Given the description of an element on the screen output the (x, y) to click on. 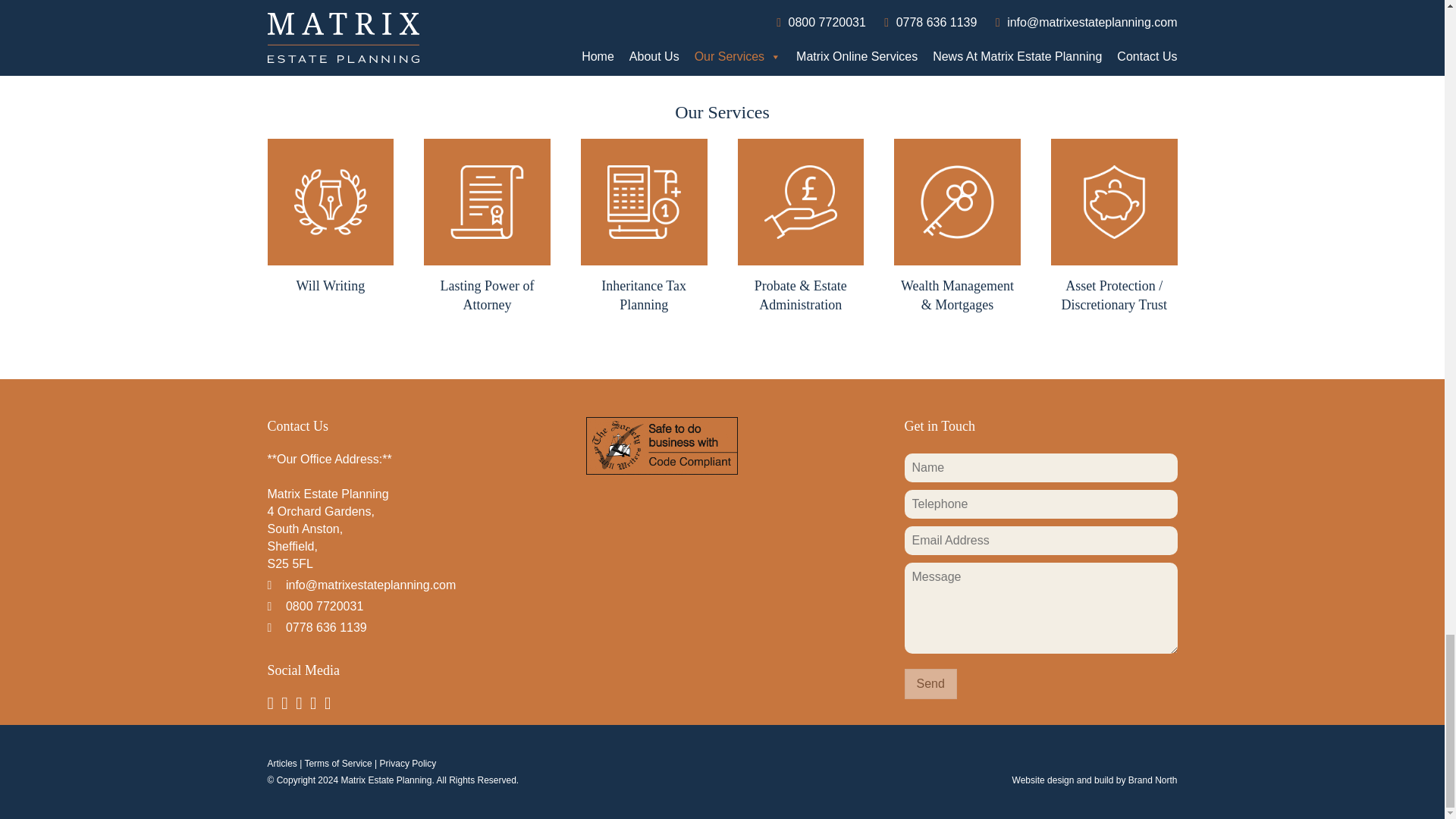
REQUEST A FREE CALL BACK (721, 19)
